Given the description of an element on the screen output the (x, y) to click on. 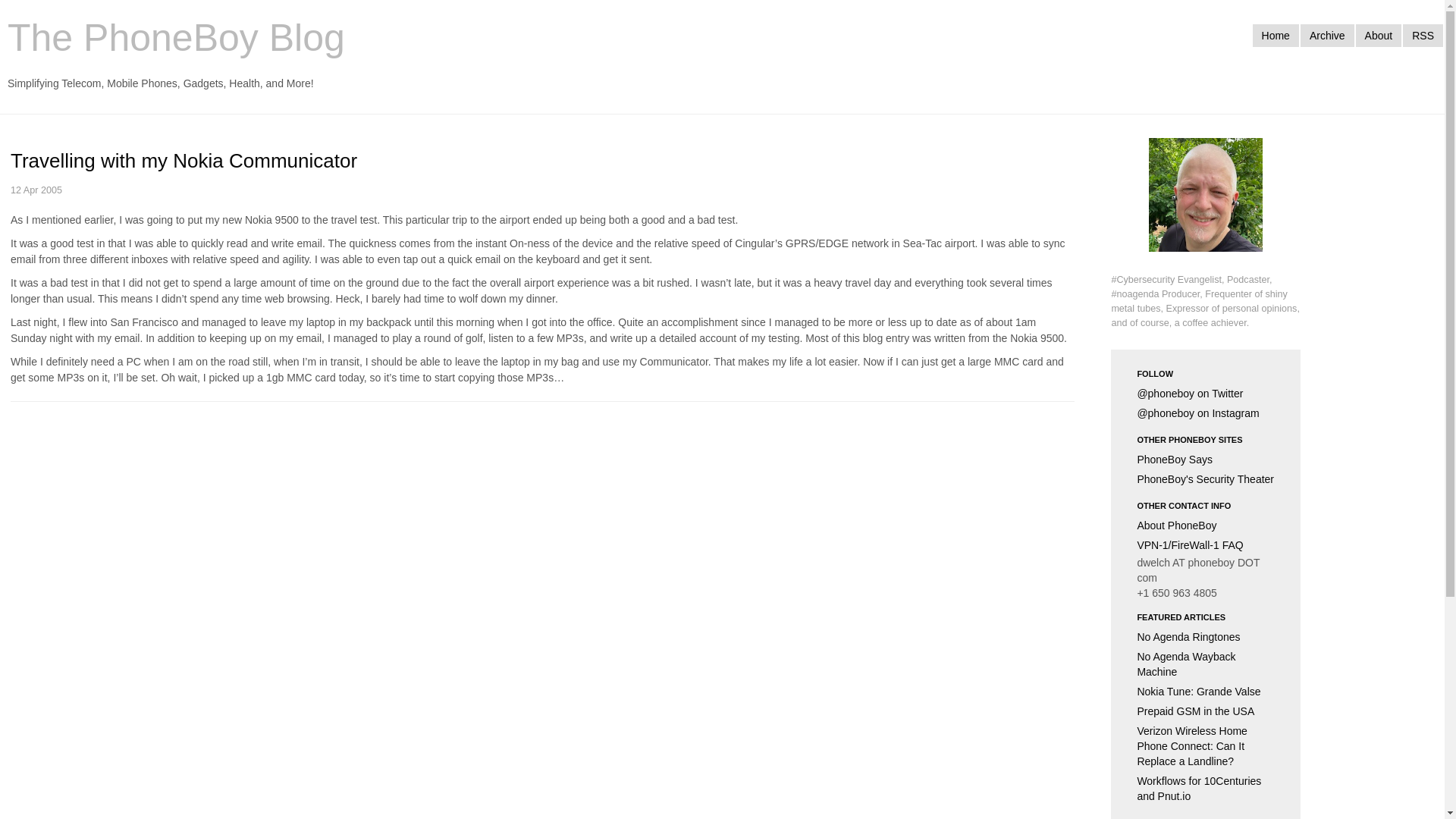
About me (1205, 204)
RSS (1422, 35)
PhoneBoy's Security Theater (1205, 478)
Prepaid GSM in the USA (1205, 711)
Nokia Tune: Grande Valse (1205, 691)
No Agenda Ringtones (1205, 637)
Workflows for 10Centuries and Pnut.io (1205, 788)
About PhoneBoy (1205, 525)
Archive (1327, 35)
No Agenda Wayback Machine (1205, 664)
About (1378, 35)
PhoneBoy Says (1205, 459)
Home (1275, 35)
